Given the description of an element on the screen output the (x, y) to click on. 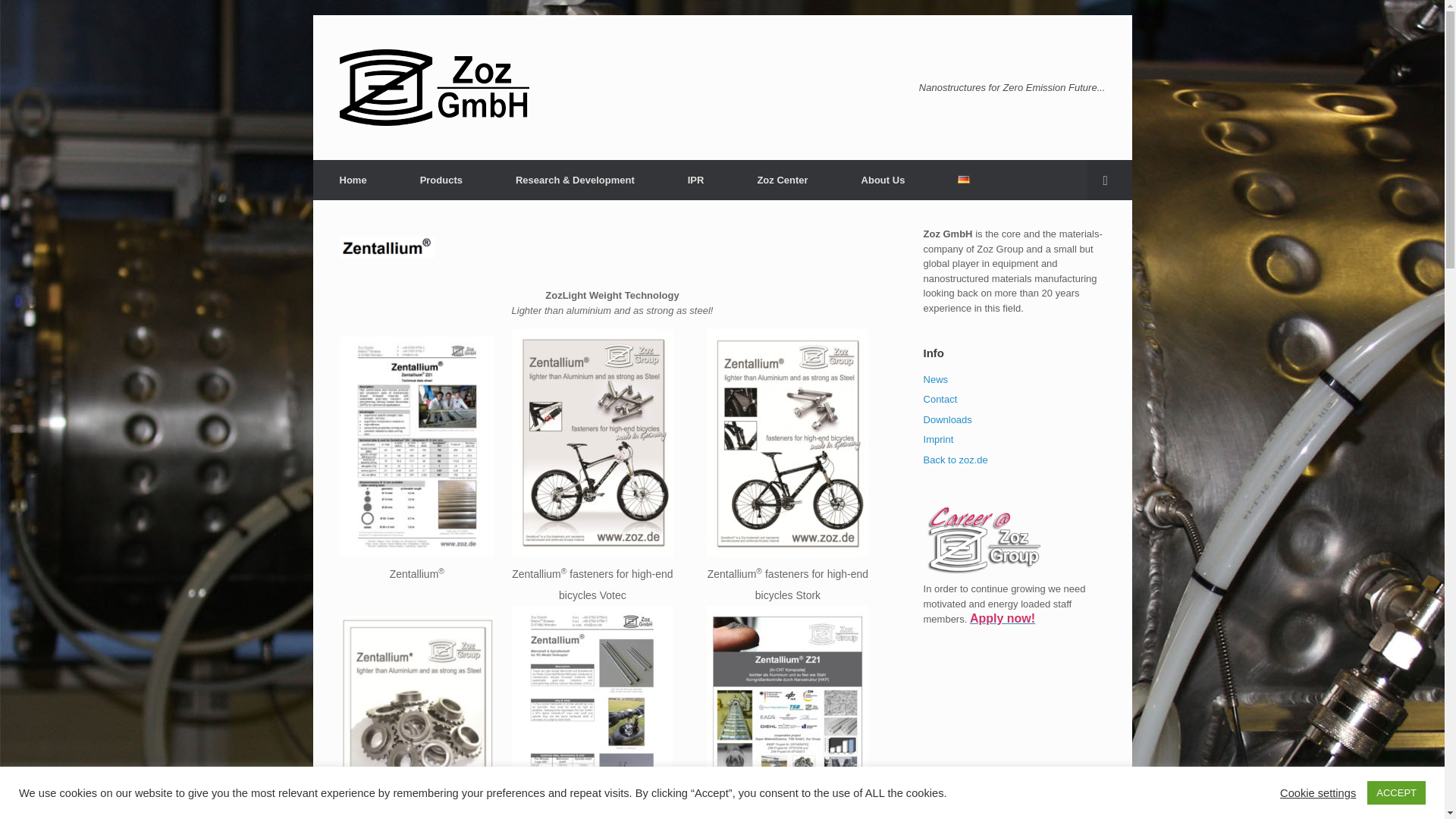
Products (441, 179)
Zoz GmbH (434, 87)
Home (353, 179)
